Given the description of an element on the screen output the (x, y) to click on. 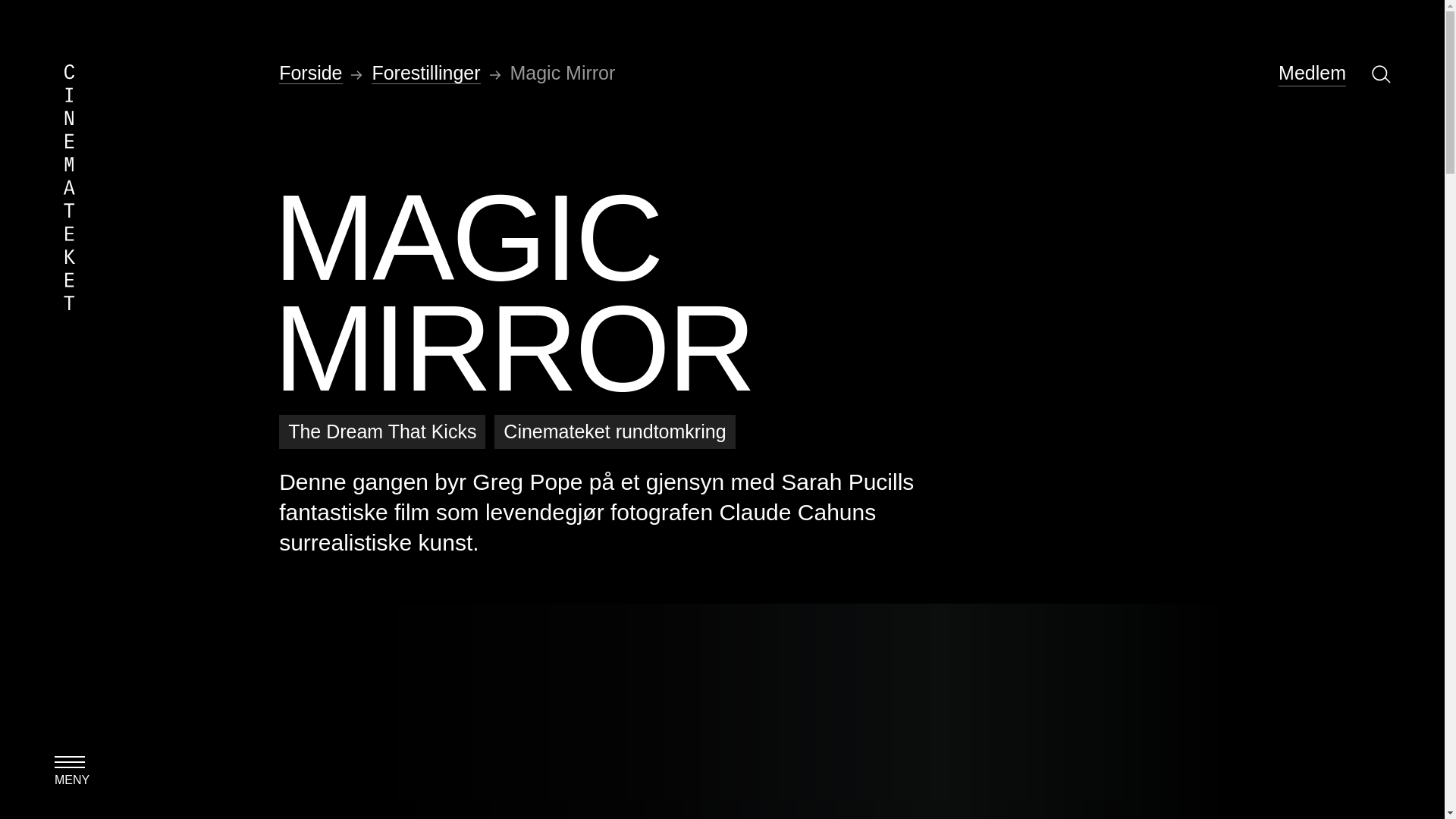
Forside (310, 73)
Forestillinger (425, 73)
Magic Mirror (561, 72)
The Dream That Kicks (381, 431)
MENY (69, 766)
Forestillinger (425, 73)
Medlem (1311, 73)
Cinemateket rundtomkring (615, 431)
Forside (310, 73)
